Given the description of an element on the screen output the (x, y) to click on. 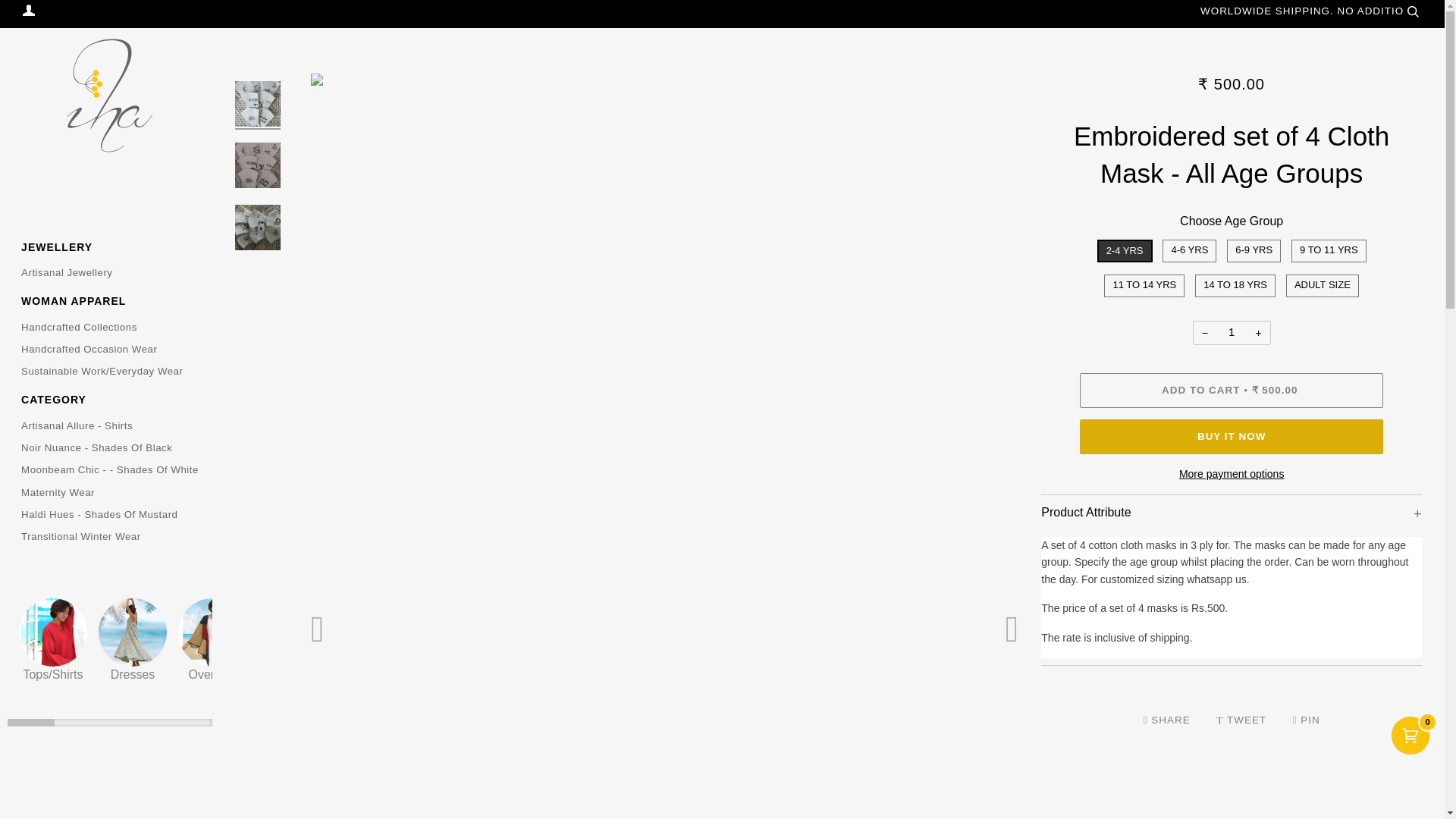
1 (1231, 332)
Search (1412, 11)
